Given the description of an element on the screen output the (x, y) to click on. 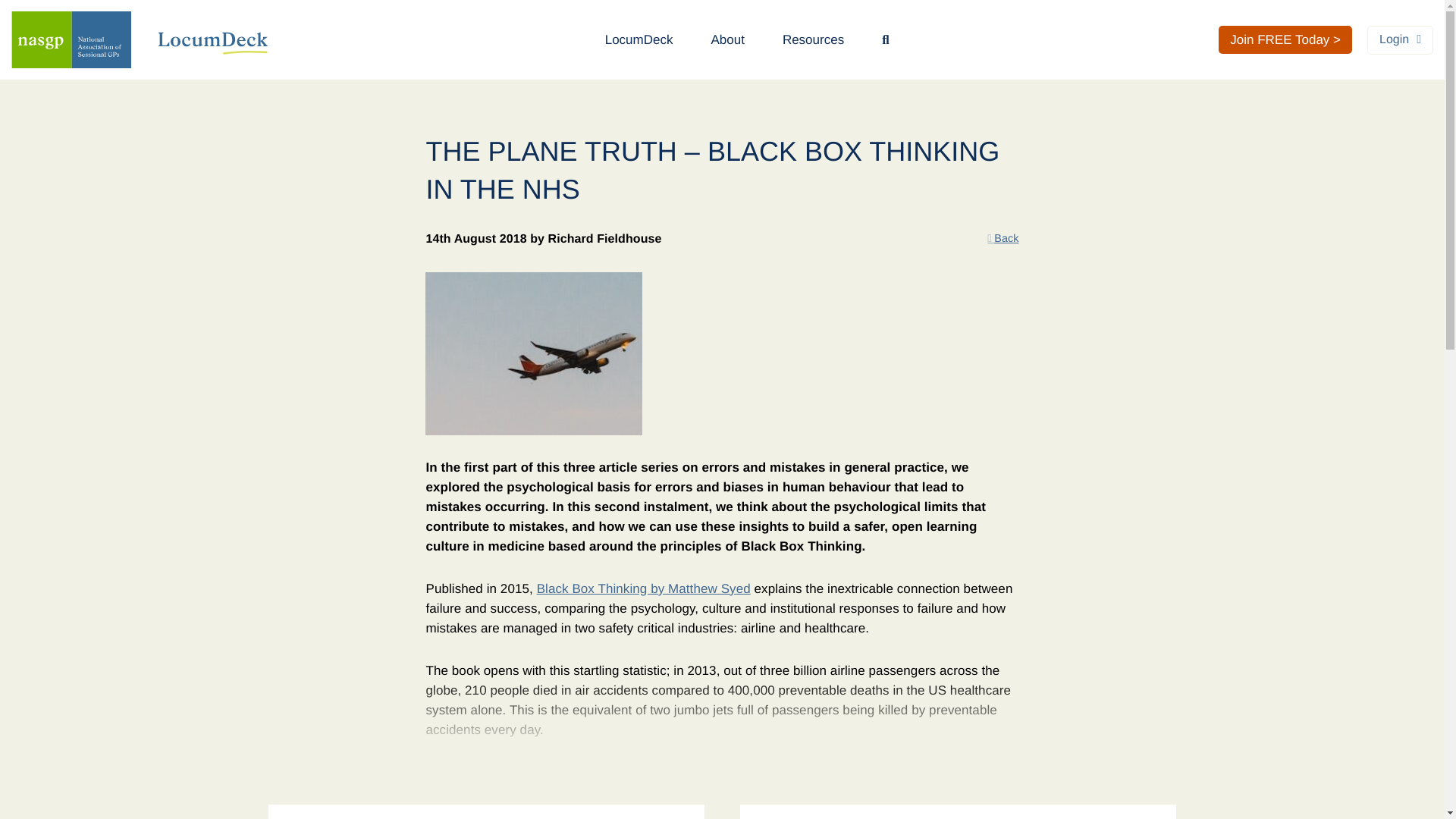
Login (1399, 39)
LocumDeck (639, 39)
About (726, 39)
Resources (813, 39)
